Given the description of an element on the screen output the (x, y) to click on. 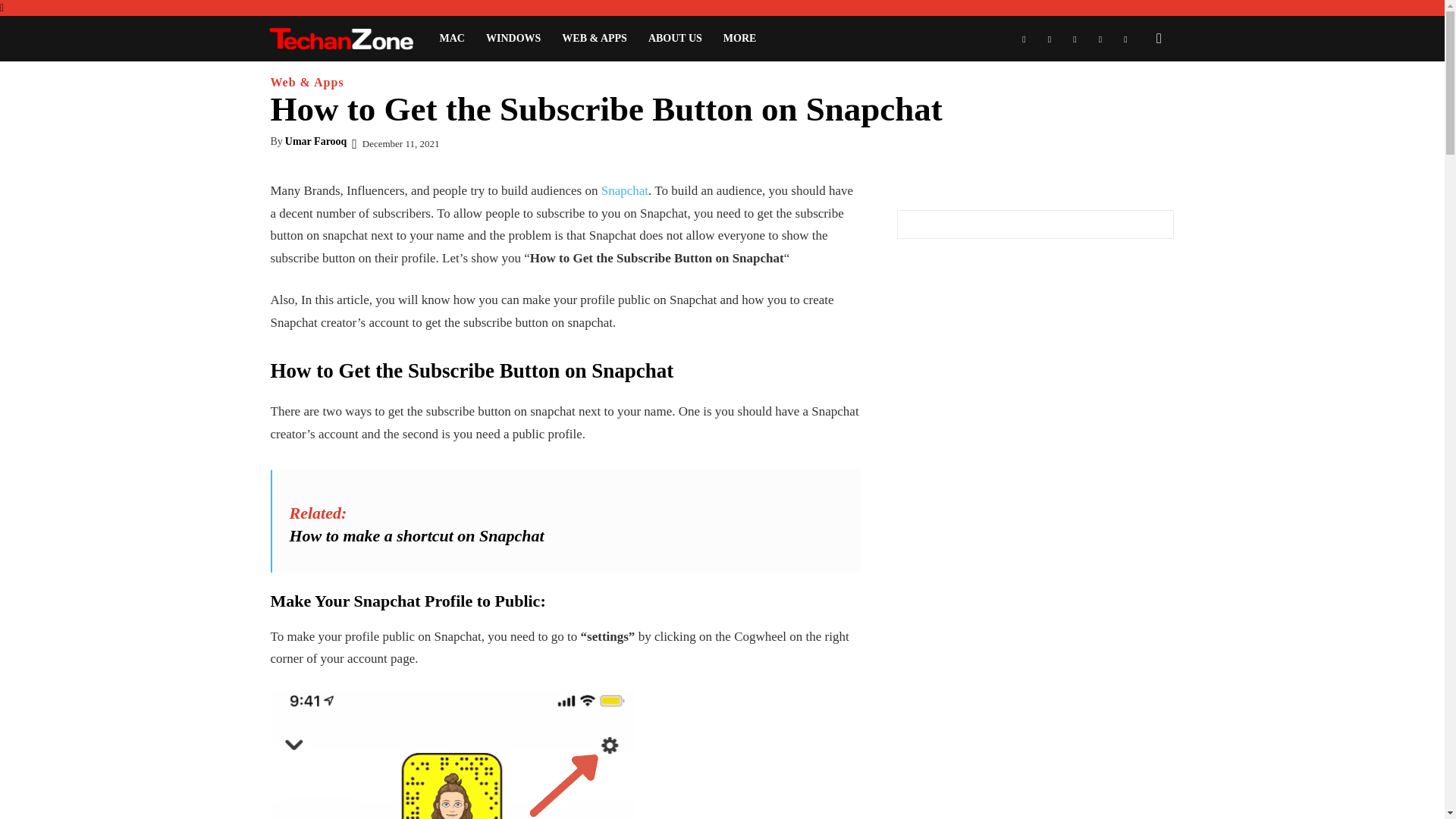
Umar Farooq (316, 141)
Search (1134, 103)
TechanZone (347, 38)
Snapchat (624, 190)
WINDOWS (513, 38)
MORE (740, 38)
How to make a shortcut on Snapchat (416, 535)
ABOUT US (675, 38)
MAC (452, 38)
